Given the description of an element on the screen output the (x, y) to click on. 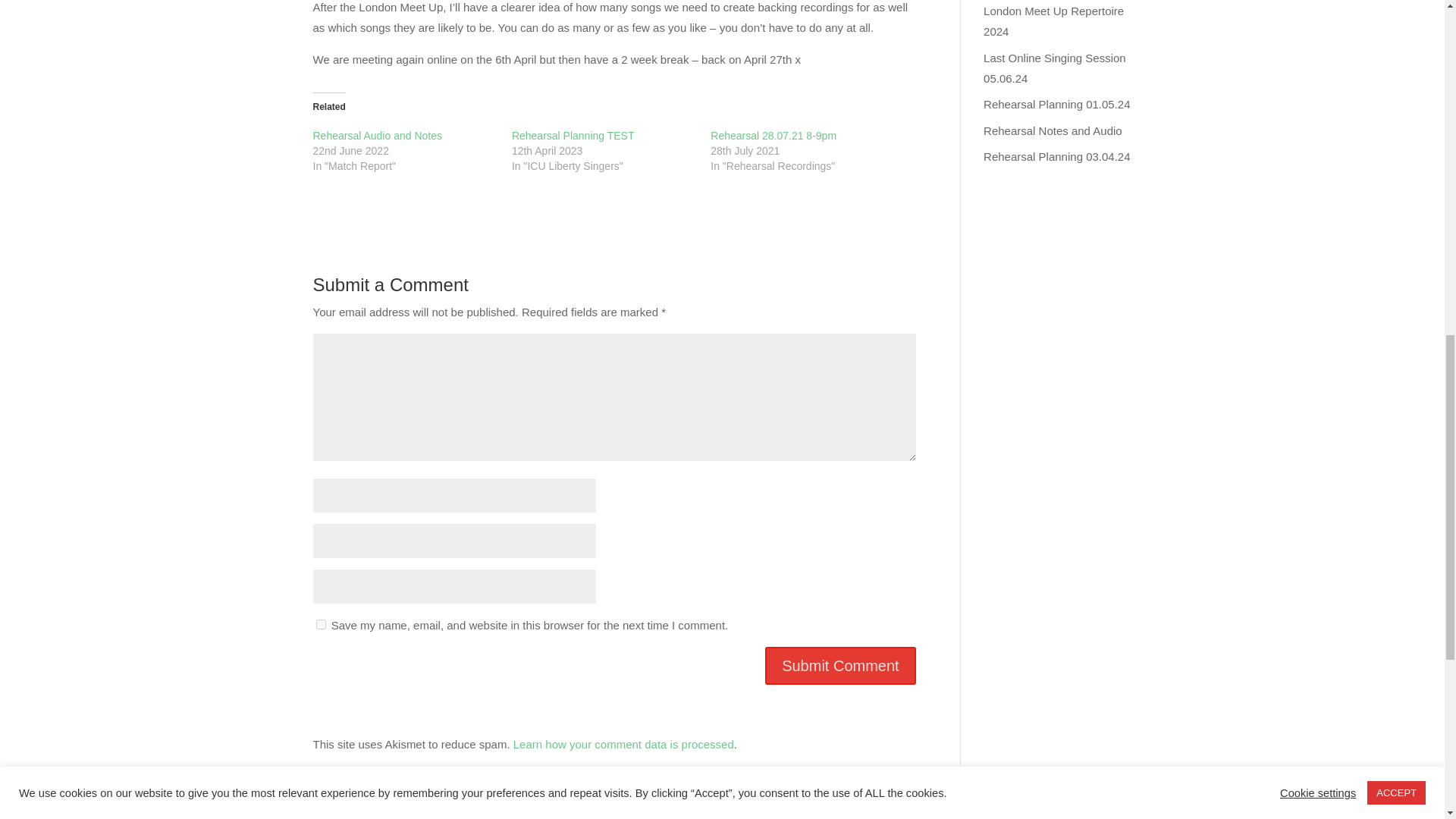
Submit Comment (840, 665)
yes (319, 624)
Rehearsal 28.07.21 8-9pm (772, 135)
Rehearsal Planning TEST (573, 135)
Rehearsal Audio and Notes (377, 135)
